Given the description of an element on the screen output the (x, y) to click on. 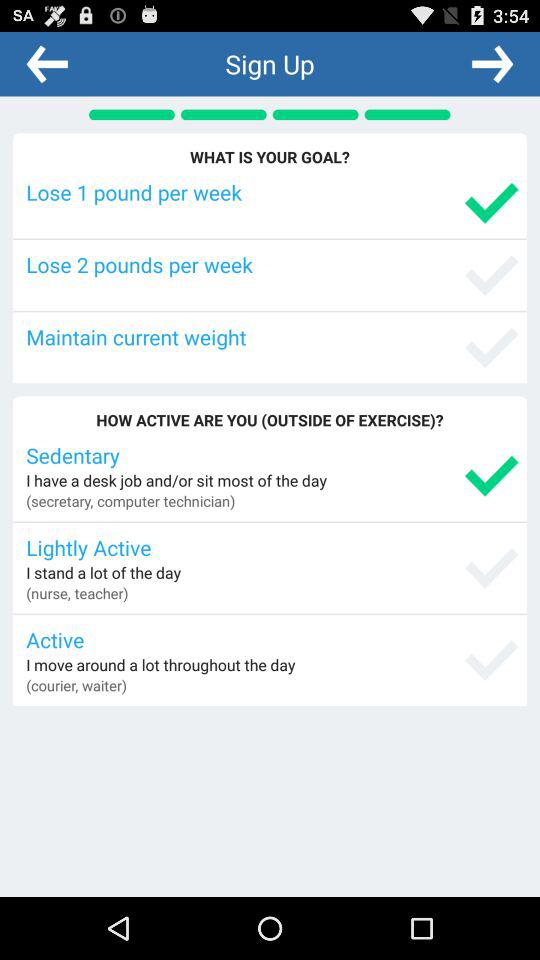
go to next page (492, 63)
